Given the description of an element on the screen output the (x, y) to click on. 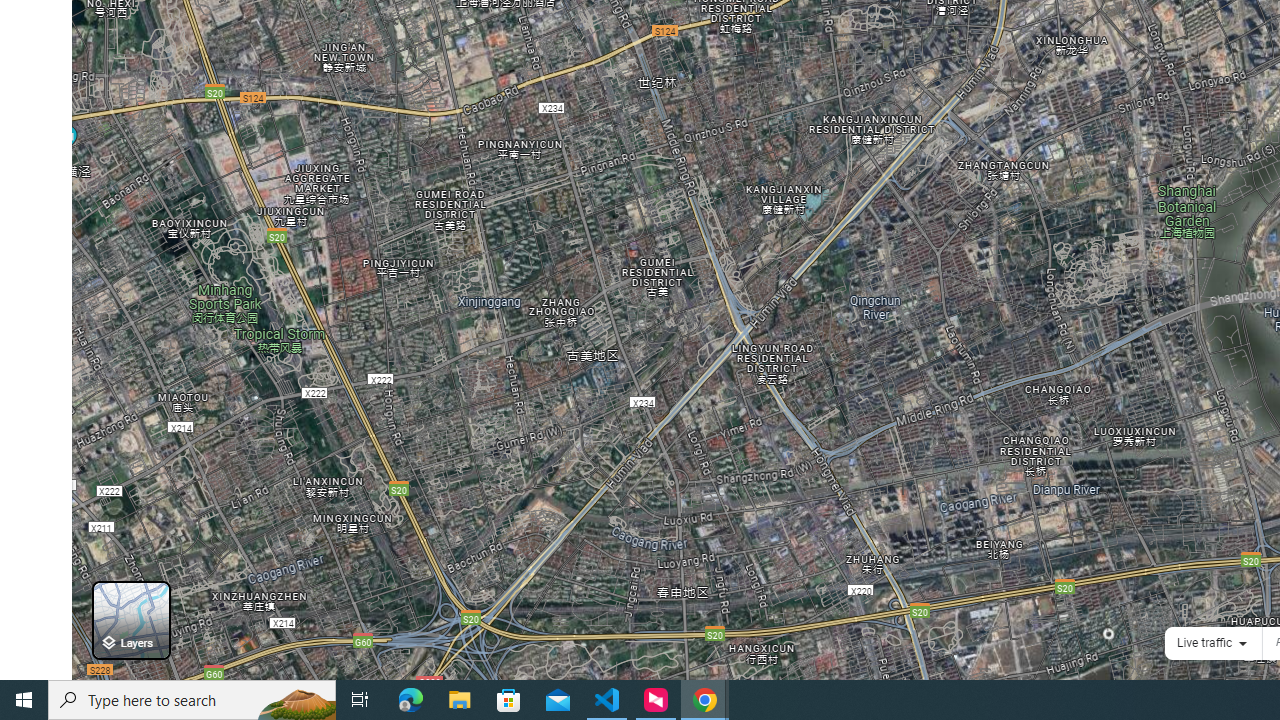
Layers (130, 620)
Live traffic (1204, 642)
